Given the description of an element on the screen output the (x, y) to click on. 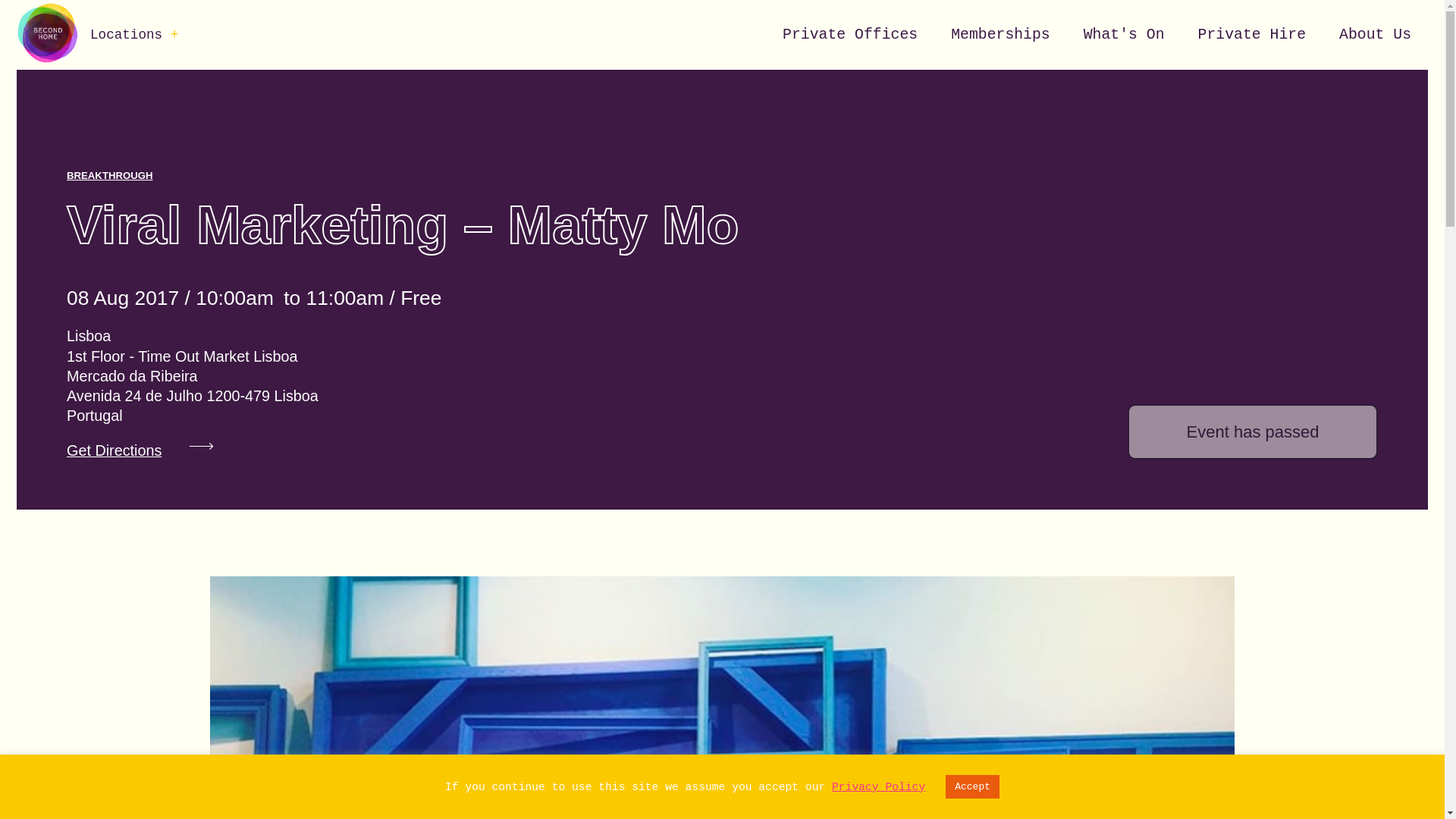
About Us (1375, 34)
What's On (1123, 34)
Memberships (1000, 34)
Private Offices (849, 34)
Private Hire (1251, 34)
